Given the description of an element on the screen output the (x, y) to click on. 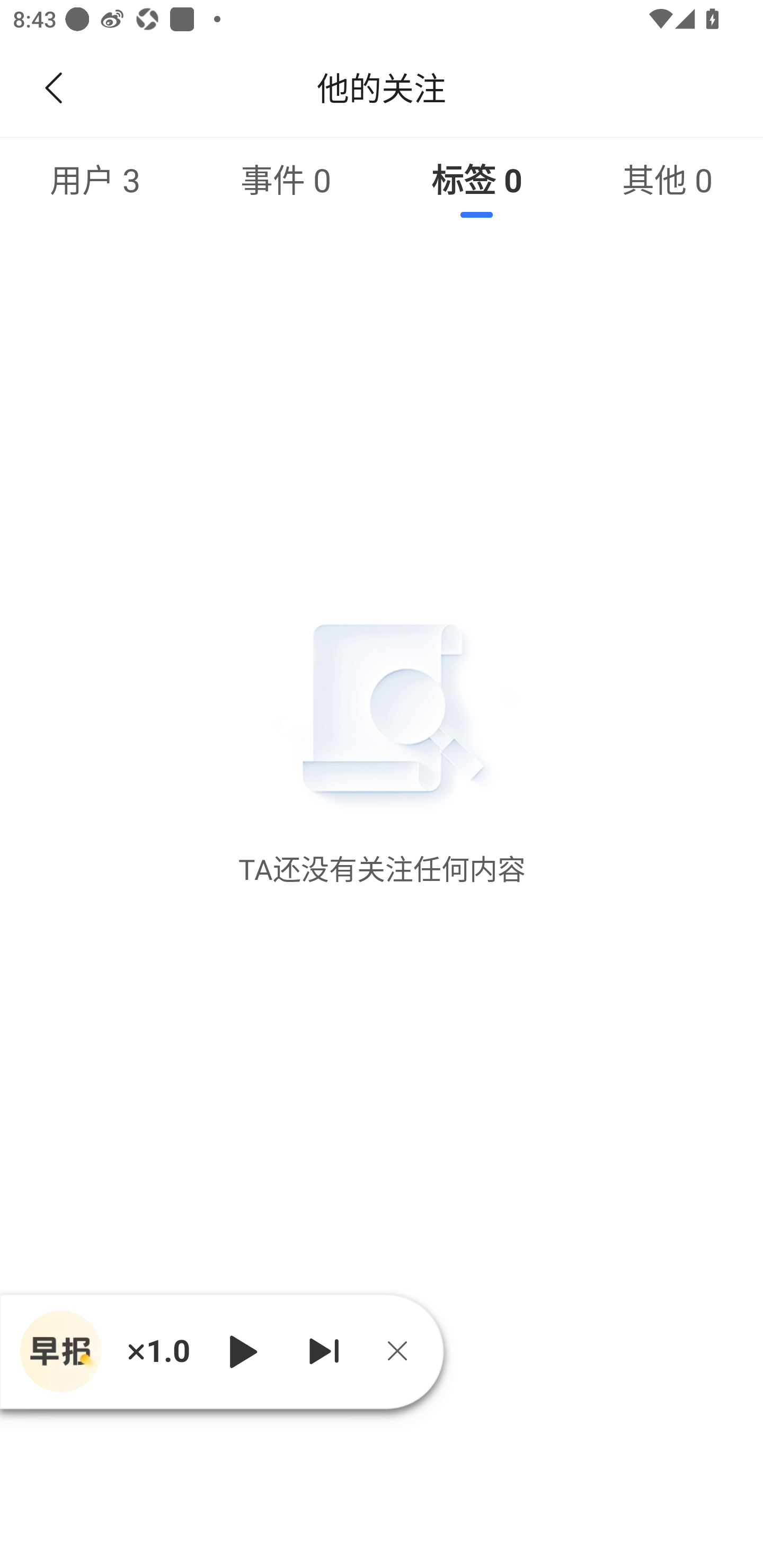
返回，可点击 (49, 87)
用户&nbsp;3，可选中 (95, 179)
事件&nbsp;0，可选中 (285, 179)
已选中标签&nbsp;0 (476, 179)
其他&nbsp;0，可选中 (667, 179)
 播放 (242, 1351)
 下一个 (323, 1351)
 关闭 (404, 1350)
播放器 (60, 1351)
 1.0 (157, 1351)
